Given the description of an element on the screen output the (x, y) to click on. 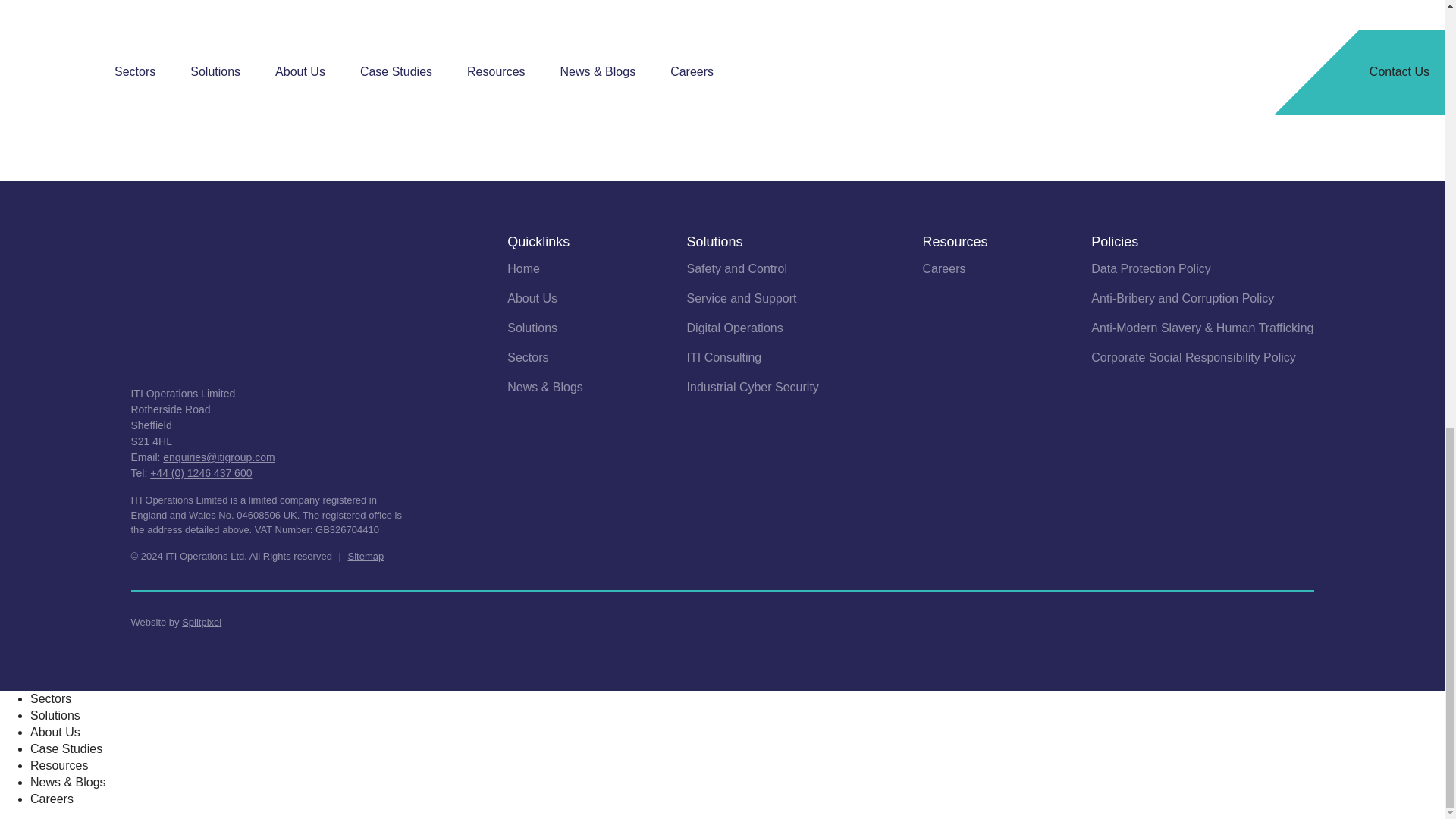
Newer Blog Post (422, 117)
ITI Consulting (724, 359)
Anti-Bribery and Corruption Policy (1182, 300)
Home (523, 270)
Corporate Social Responsibility Policy (1192, 359)
Solutions (531, 329)
Older Blog Post (558, 117)
Sitemap (365, 555)
Safety and Control (737, 270)
About Us (531, 300)
